Given the description of an element on the screen output the (x, y) to click on. 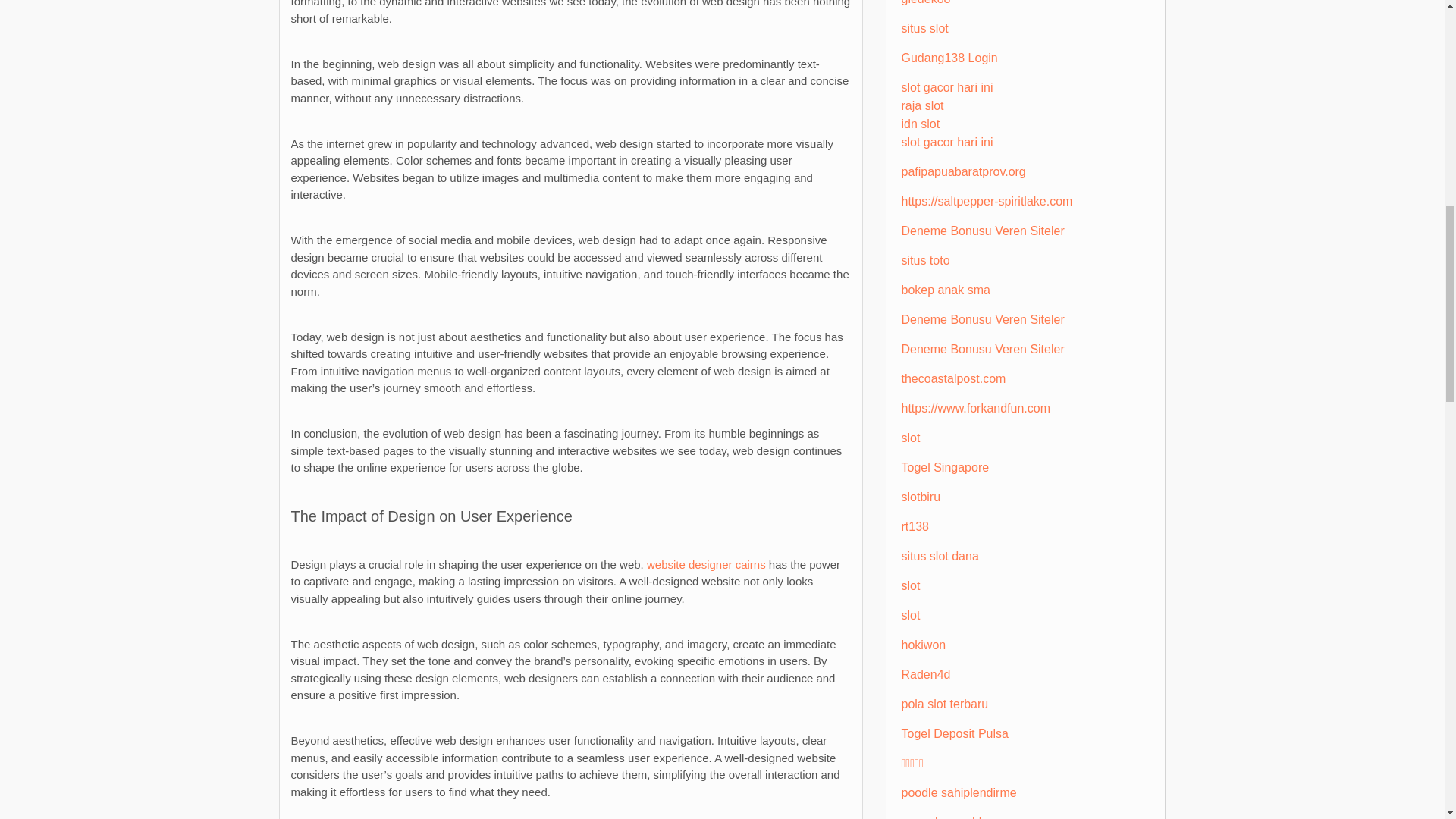
situs slot (924, 28)
gledek88 (925, 2)
website designer cairns (705, 563)
